Given the description of an element on the screen output the (x, y) to click on. 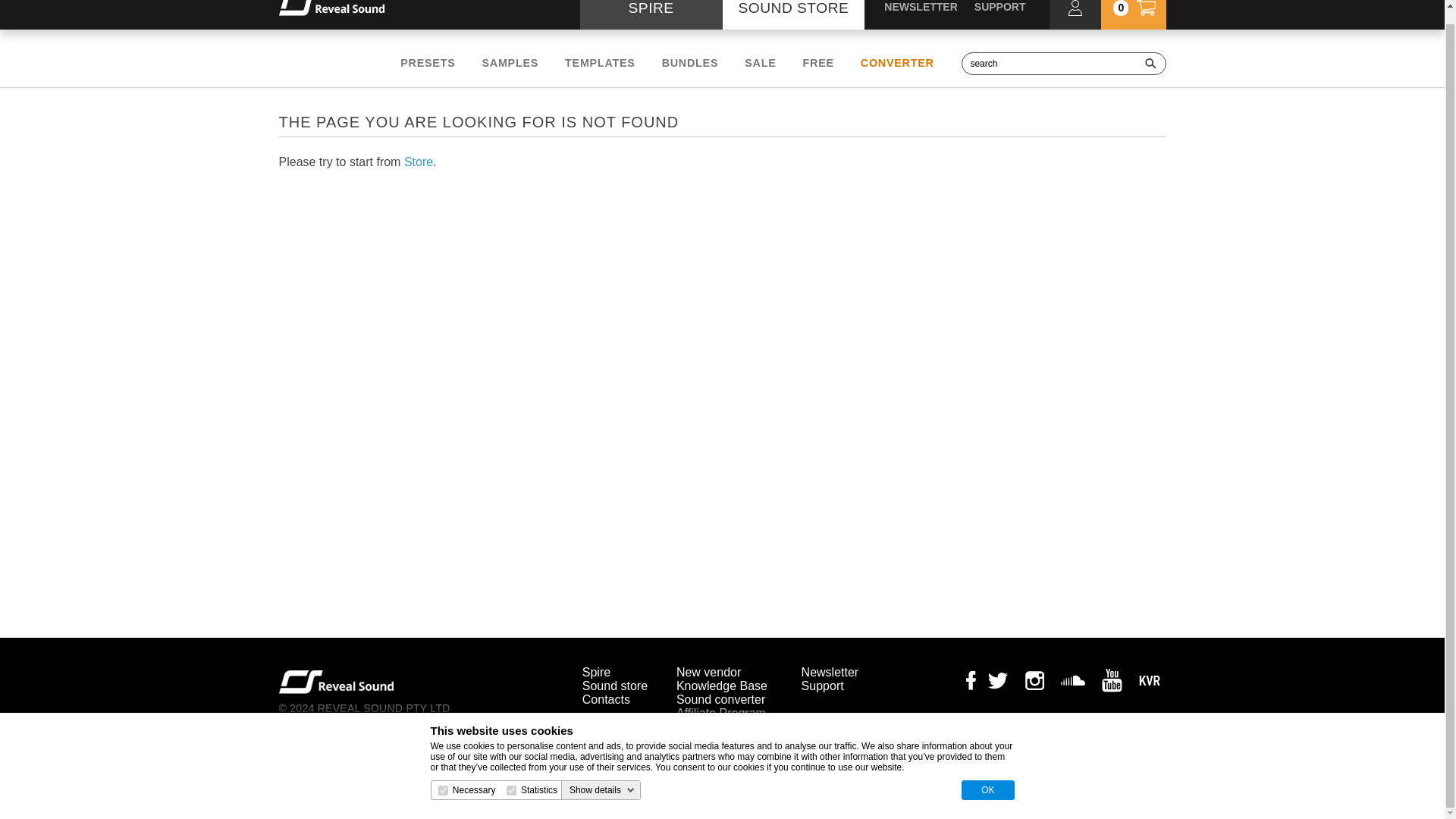
Terms and conditions (320, 722)
SALE (760, 62)
BUNDLES (690, 62)
SAMPLES (509, 62)
Search (1149, 63)
SPIRE (650, 14)
SUPPORT (1000, 6)
Store (418, 161)
TEMPLATES (599, 62)
Privacy policy (306, 735)
FREE (818, 62)
on (511, 777)
Spire (596, 671)
Search (1149, 63)
